Given the description of an element on the screen output the (x, y) to click on. 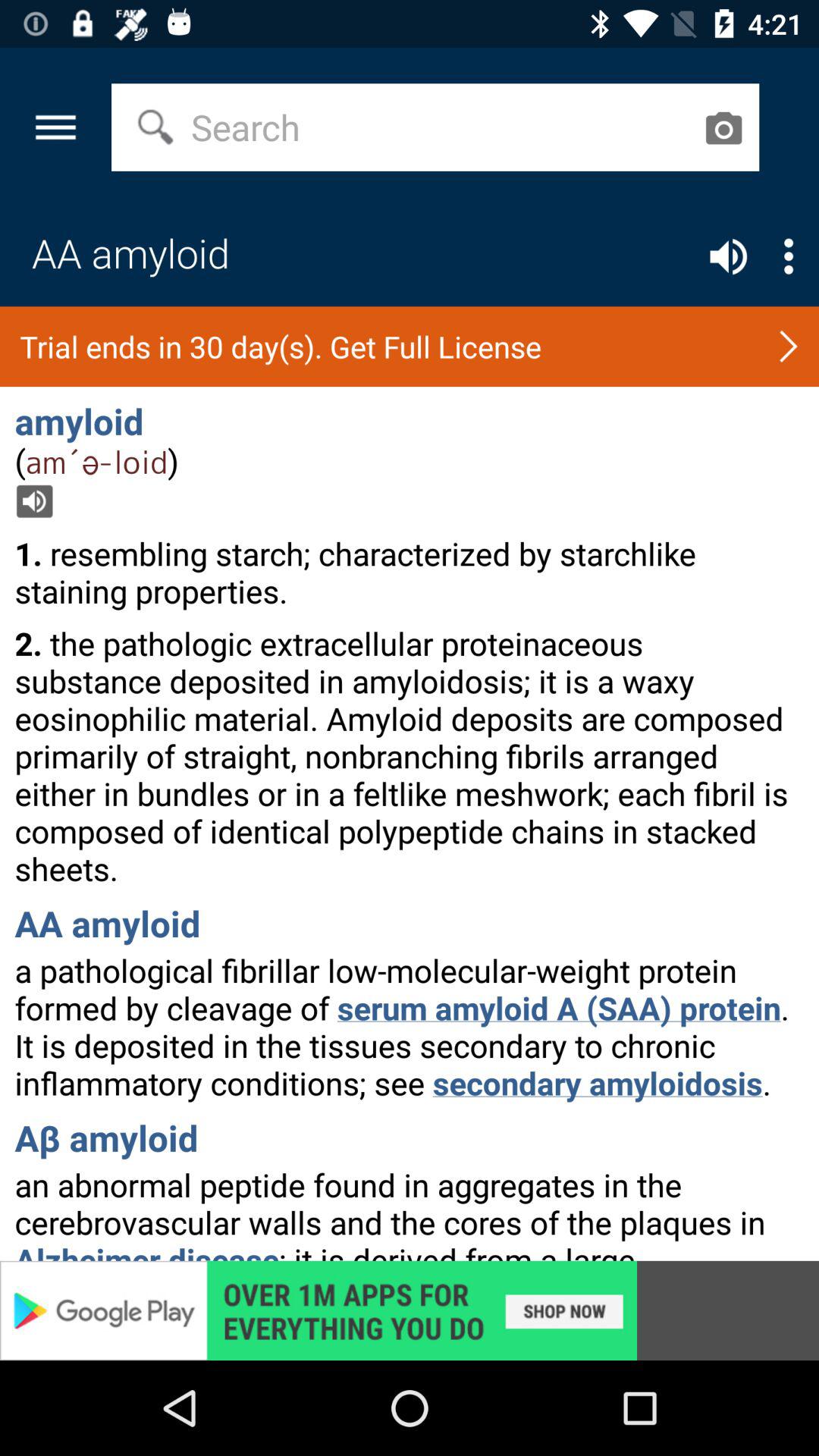
list button (788, 256)
